Given the description of an element on the screen output the (x, y) to click on. 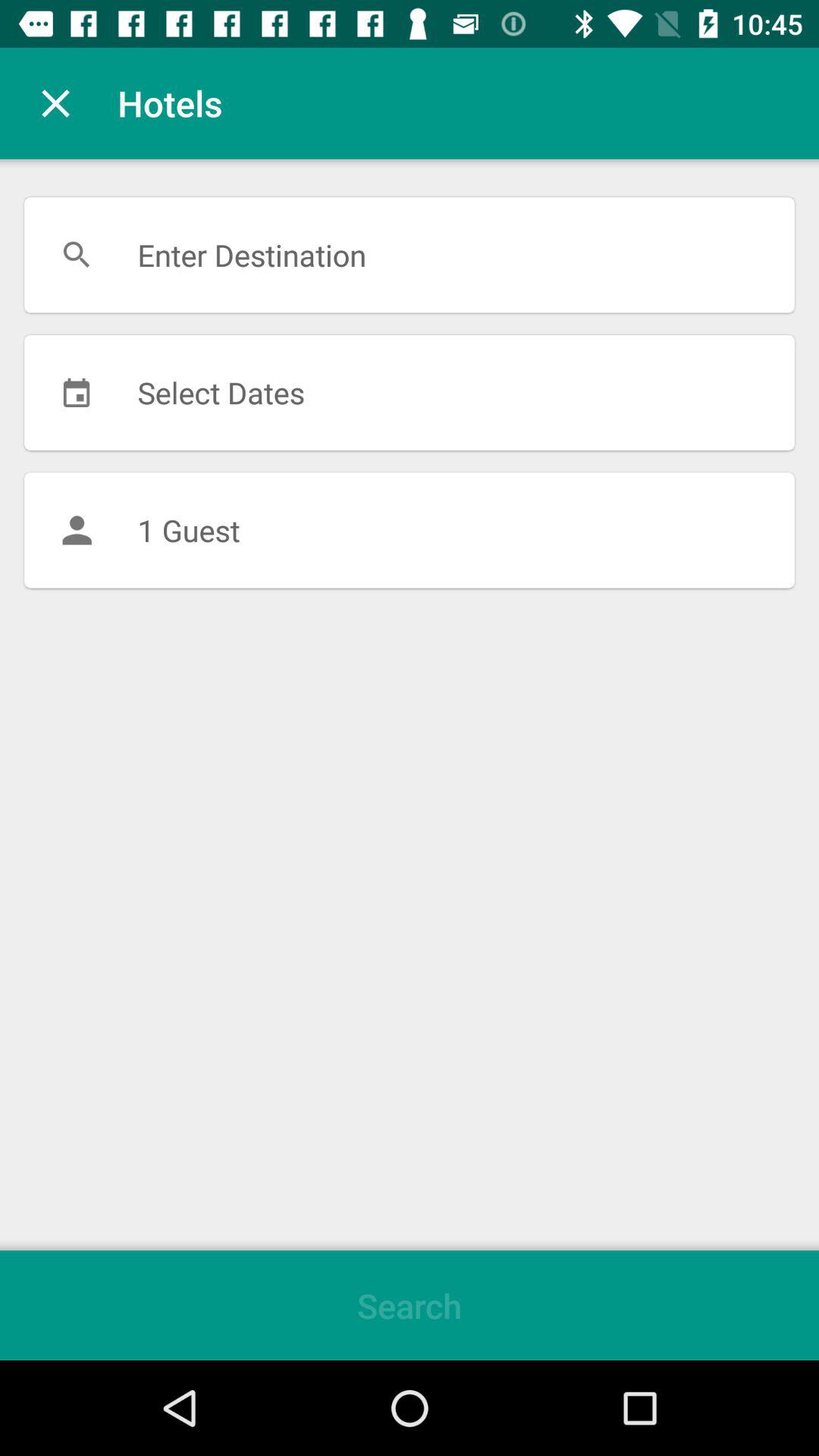
turn on the item above the select dates item (409, 254)
